Given the description of an element on the screen output the (x, y) to click on. 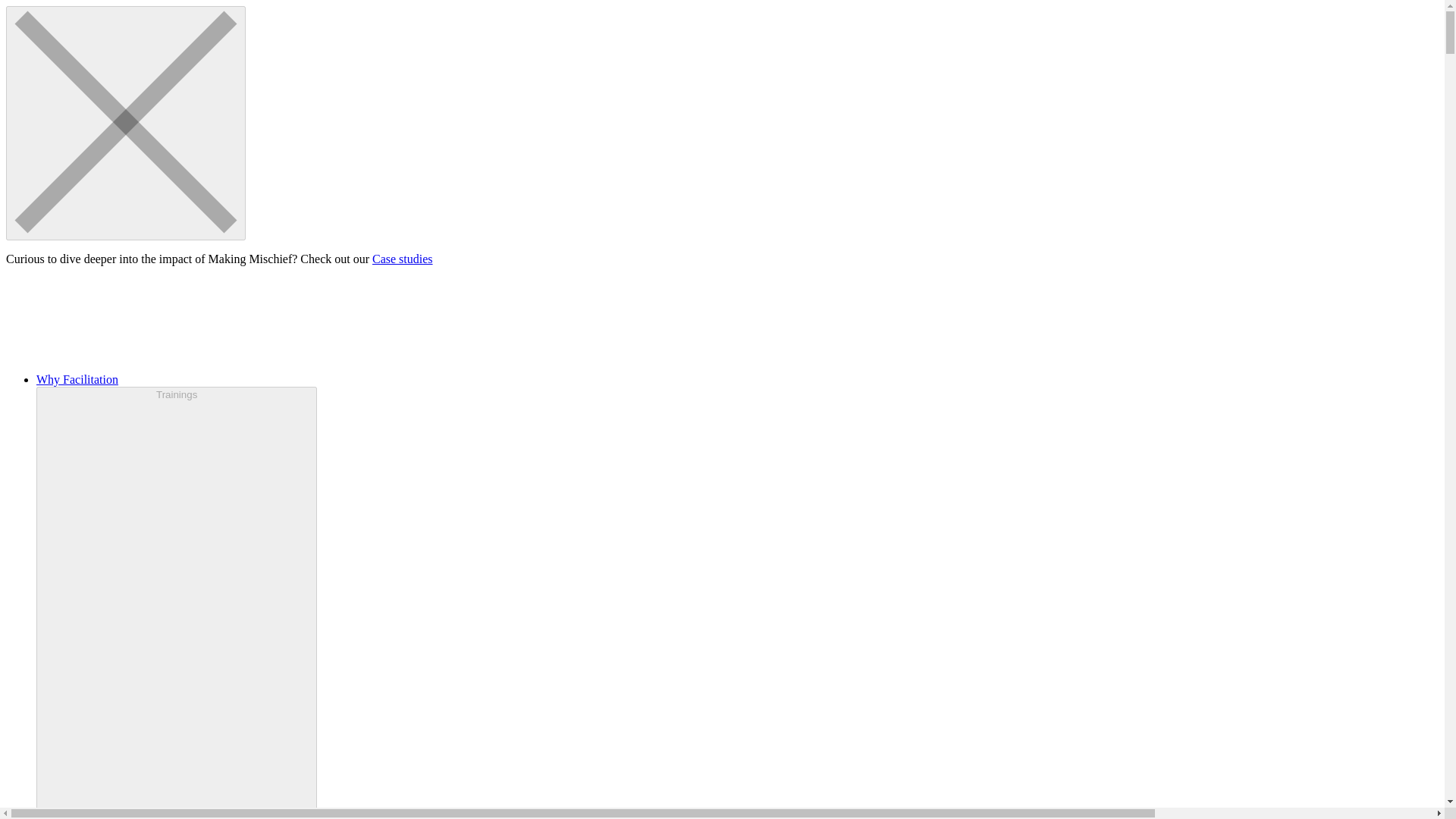
Go to index page (721, 319)
Why Facilitation (76, 379)
Why Facilitation (76, 379)
Case studies (402, 258)
